Given the description of an element on the screen output the (x, y) to click on. 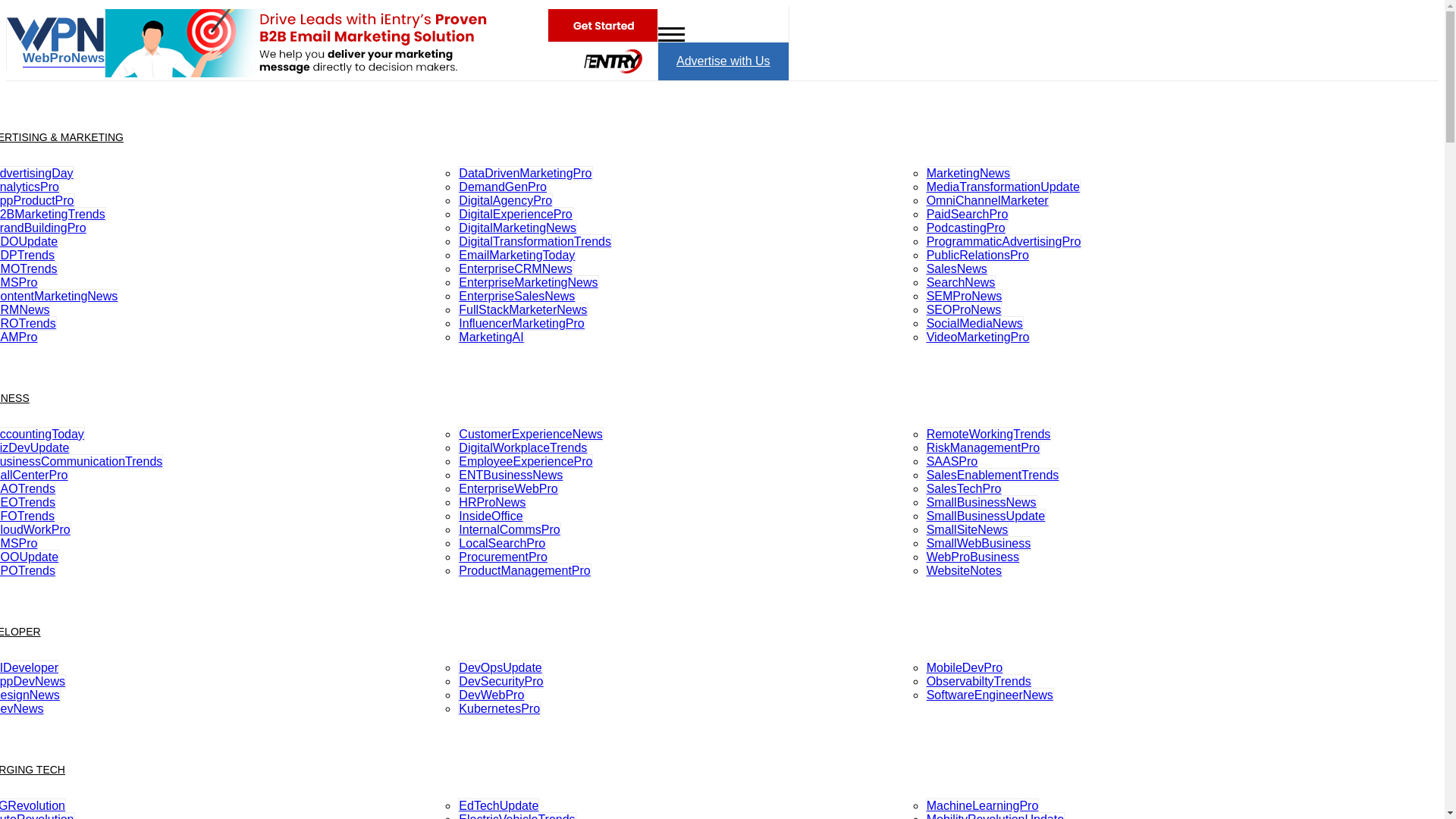
AppProductPro (37, 200)
CDOUpdate (29, 241)
AdvertisingDay (37, 173)
DigitalTransformationTrends (534, 241)
EmailMarketingToday (516, 255)
PaidSearchPro (967, 214)
AnalyticsPro (29, 186)
DigitalAgencyPro (505, 200)
DataDrivenMarketingPro (525, 173)
DigitalMarketingNews (517, 227)
